Given the description of an element on the screen output the (x, y) to click on. 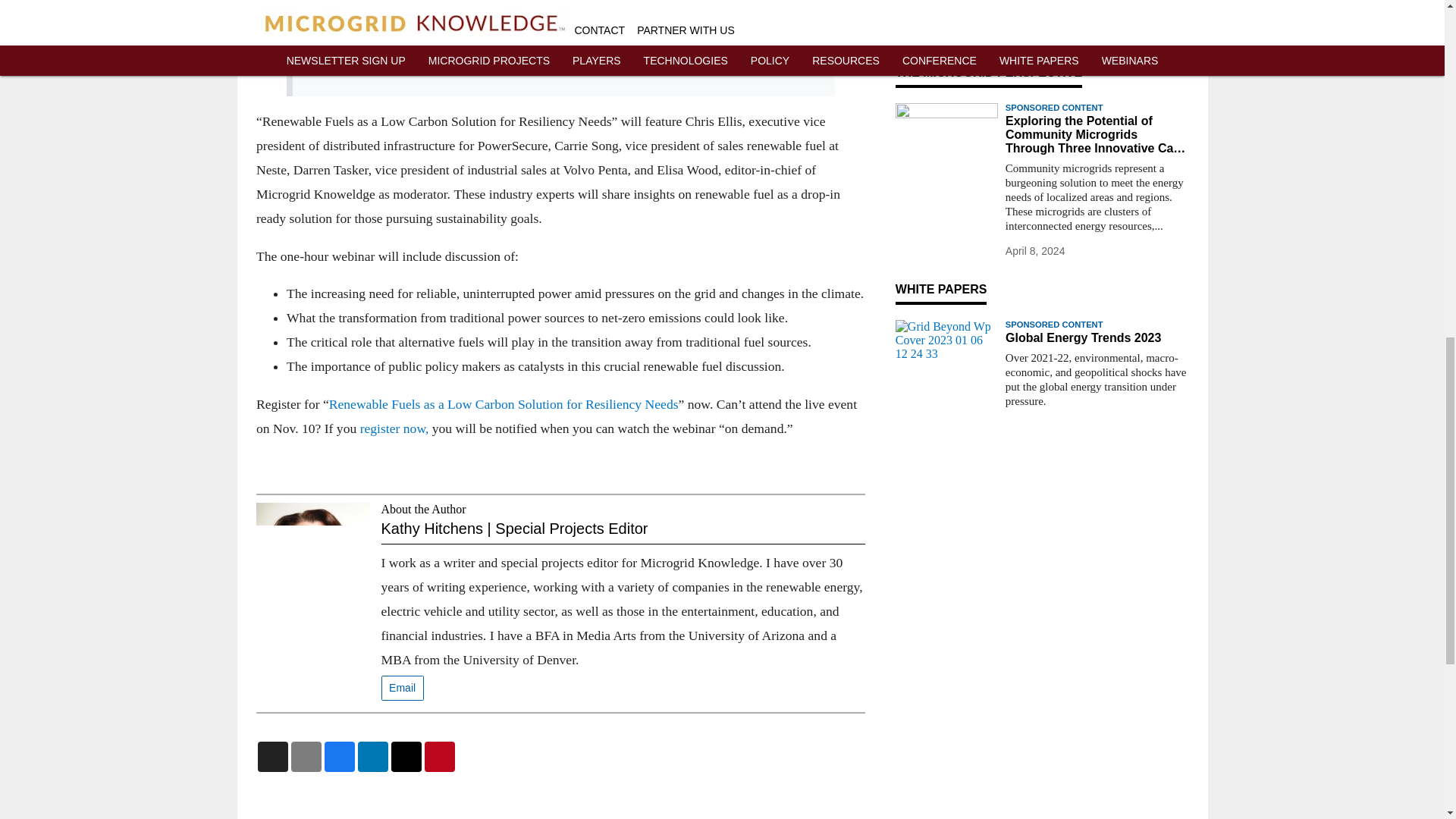
WHITE PAPERS (941, 288)
Grid Beyond Wp Cover 2023 01 06 12 24 33 (946, 348)
THE MICROGRID PERSPECTIVE (988, 72)
register now, (393, 427)
Email (401, 688)
Click here to register (395, 67)
